Given the description of an element on the screen output the (x, y) to click on. 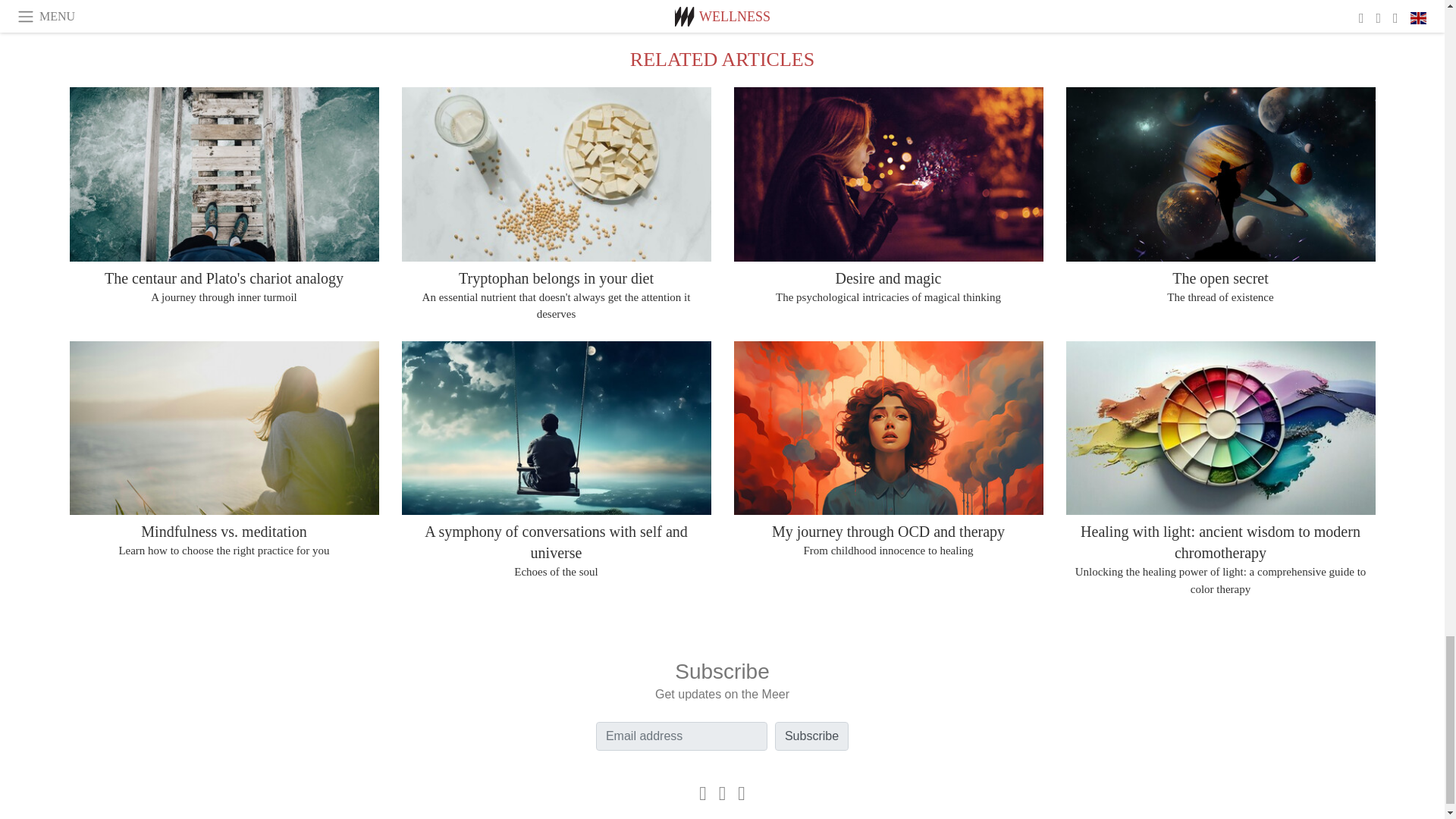
Subscribe (811, 736)
